Given the description of an element on the screen output the (x, y) to click on. 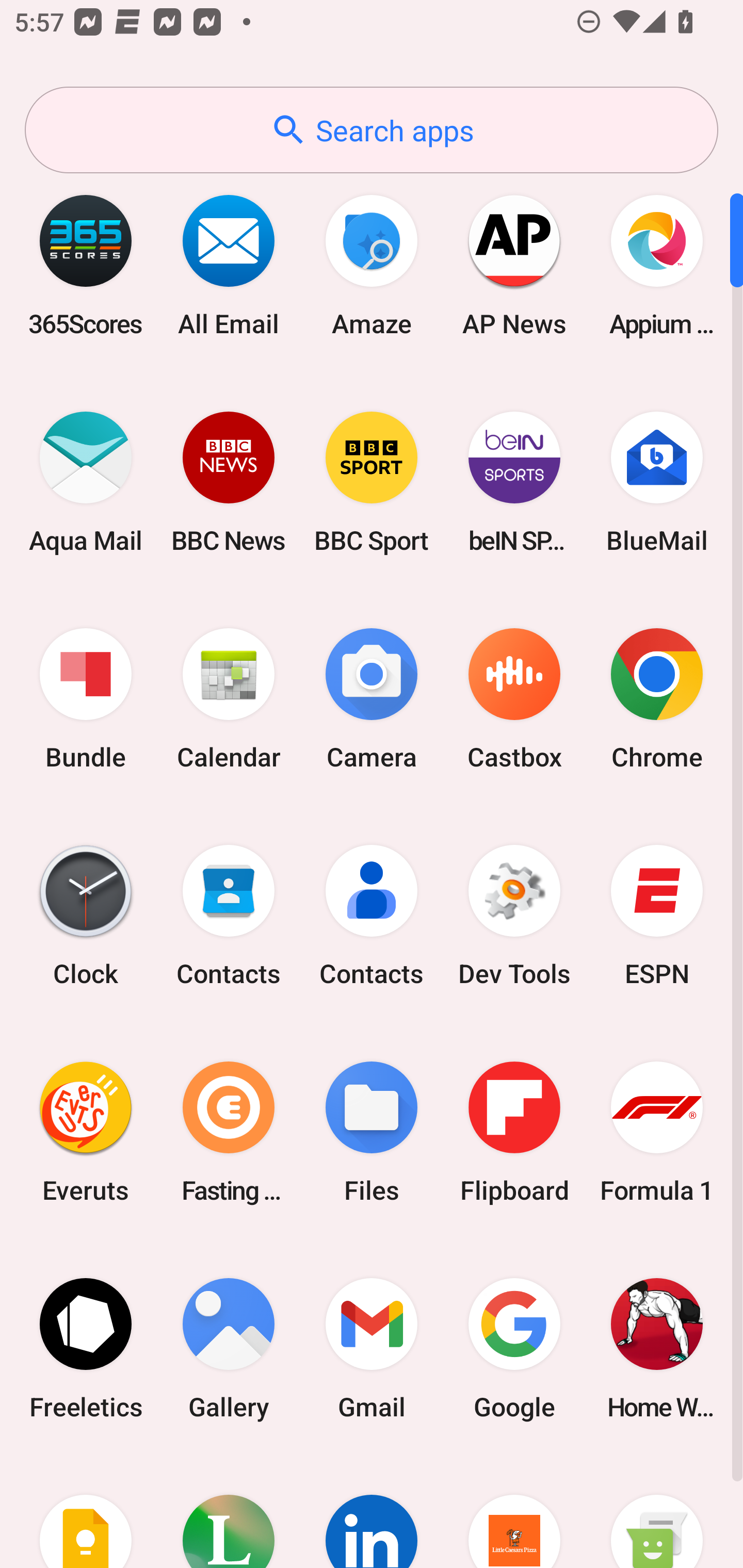
  Search apps (371, 130)
365Scores (85, 264)
All Email (228, 264)
Amaze (371, 264)
AP News (514, 264)
Appium Settings (656, 264)
Aqua Mail (85, 482)
BBC News (228, 482)
BBC Sport (371, 482)
beIN SPORTS (514, 482)
BlueMail (656, 482)
Bundle (85, 699)
Calendar (228, 699)
Camera (371, 699)
Castbox (514, 699)
Chrome (656, 699)
Clock (85, 915)
Contacts (228, 915)
Contacts (371, 915)
Dev Tools (514, 915)
ESPN (656, 915)
Everuts (85, 1131)
Fasting Coach (228, 1131)
Files (371, 1131)
Flipboard (514, 1131)
Formula 1 (656, 1131)
Freeletics (85, 1348)
Gallery (228, 1348)
Gmail (371, 1348)
Google (514, 1348)
Home Workout (656, 1348)
Keep Notes (85, 1512)
Lifesum (228, 1512)
LinkedIn (371, 1512)
Little Caesars Pizza (514, 1512)
Messaging (656, 1512)
